Given the description of an element on the screen output the (x, y) to click on. 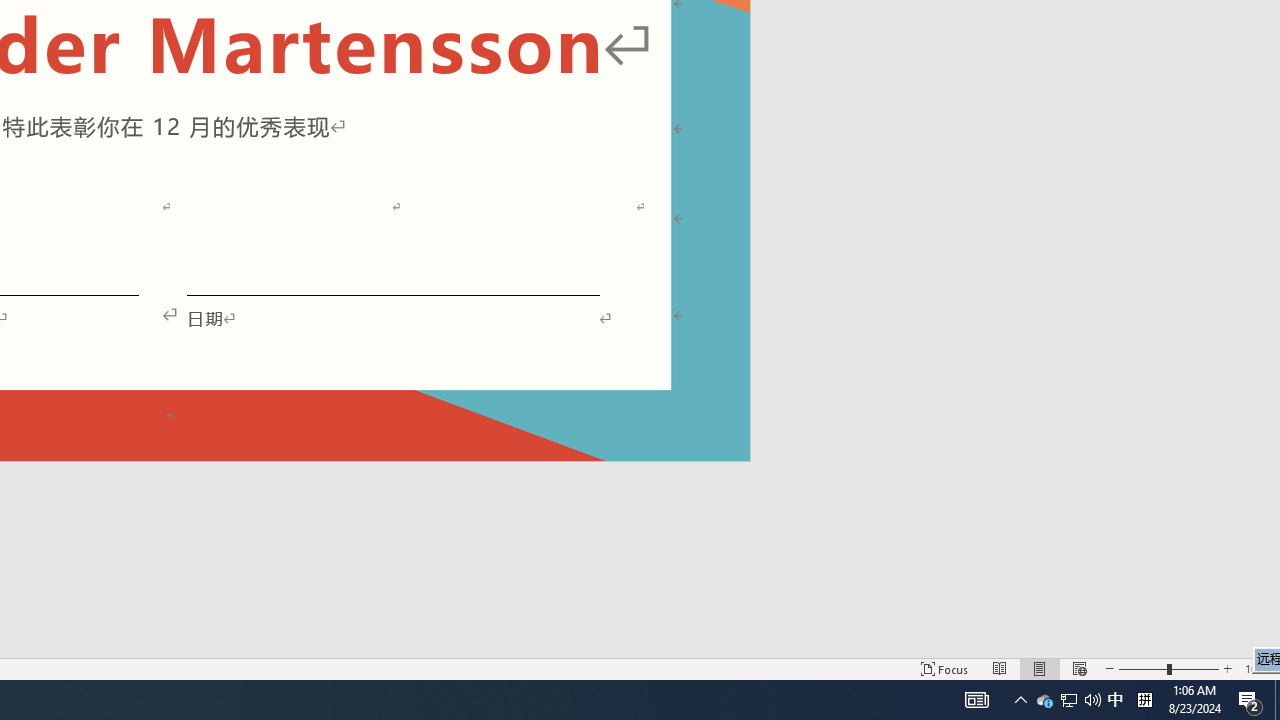
Zoom 104% (1258, 668)
Zoom (1168, 668)
